Given the description of an element on the screen output the (x, y) to click on. 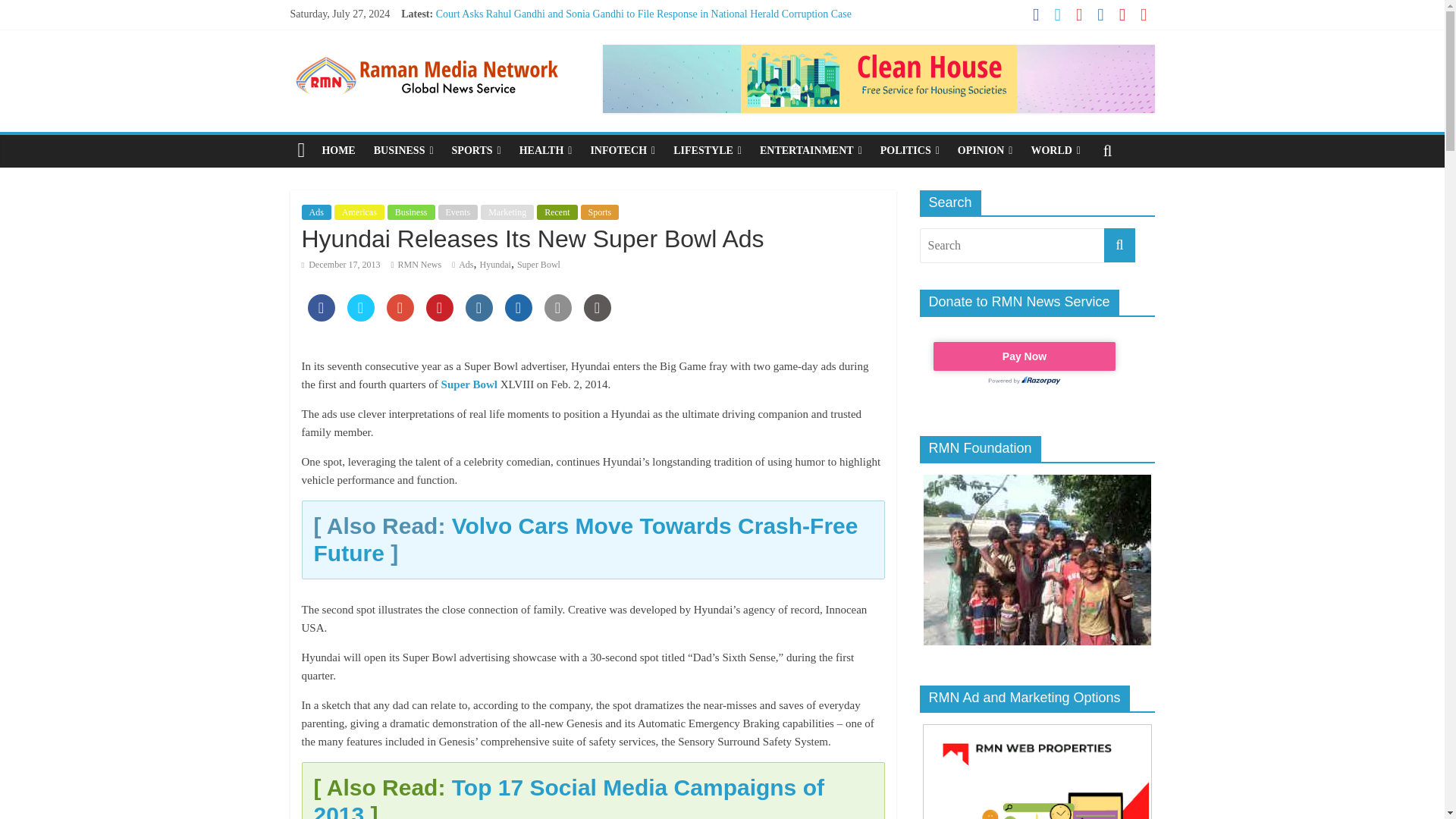
Share on Twitter (360, 316)
INFOTECH (621, 151)
Share on Digg (518, 316)
Experts Urge End to Violence Against Ahmadis in Pakistan (561, 48)
Raman Media Network (301, 151)
Experts Urge End to Violence Against Ahmadis in Pakistan (561, 48)
RMN News (419, 264)
SPORTS (476, 151)
BUSINESS (403, 151)
ENTERTAINMENT (810, 151)
Share on Facebook (320, 316)
Share on Google Plus (400, 316)
